Given the description of an element on the screen output the (x, y) to click on. 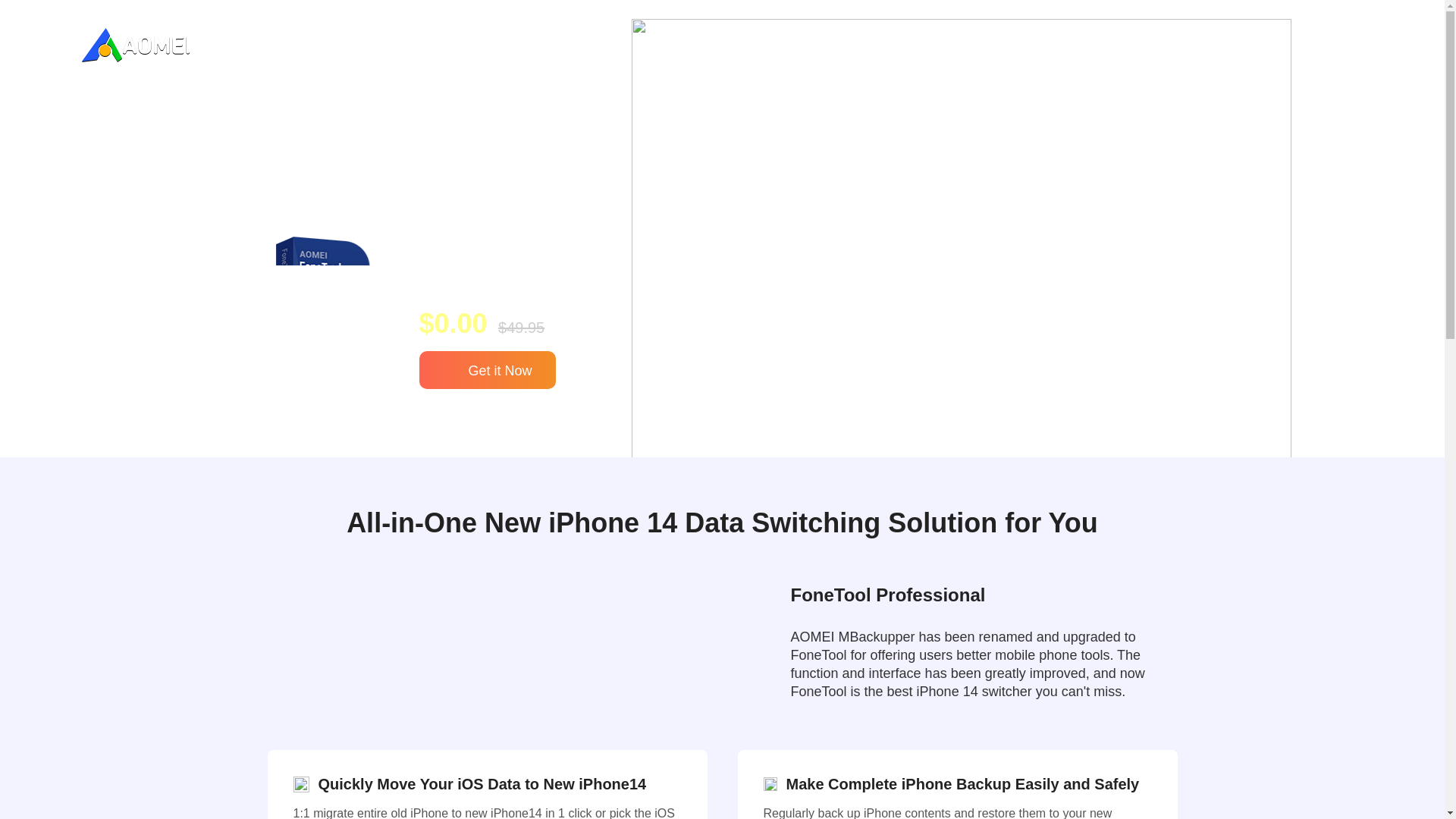
Get it Now (486, 370)
